Given the description of an element on the screen output the (x, y) to click on. 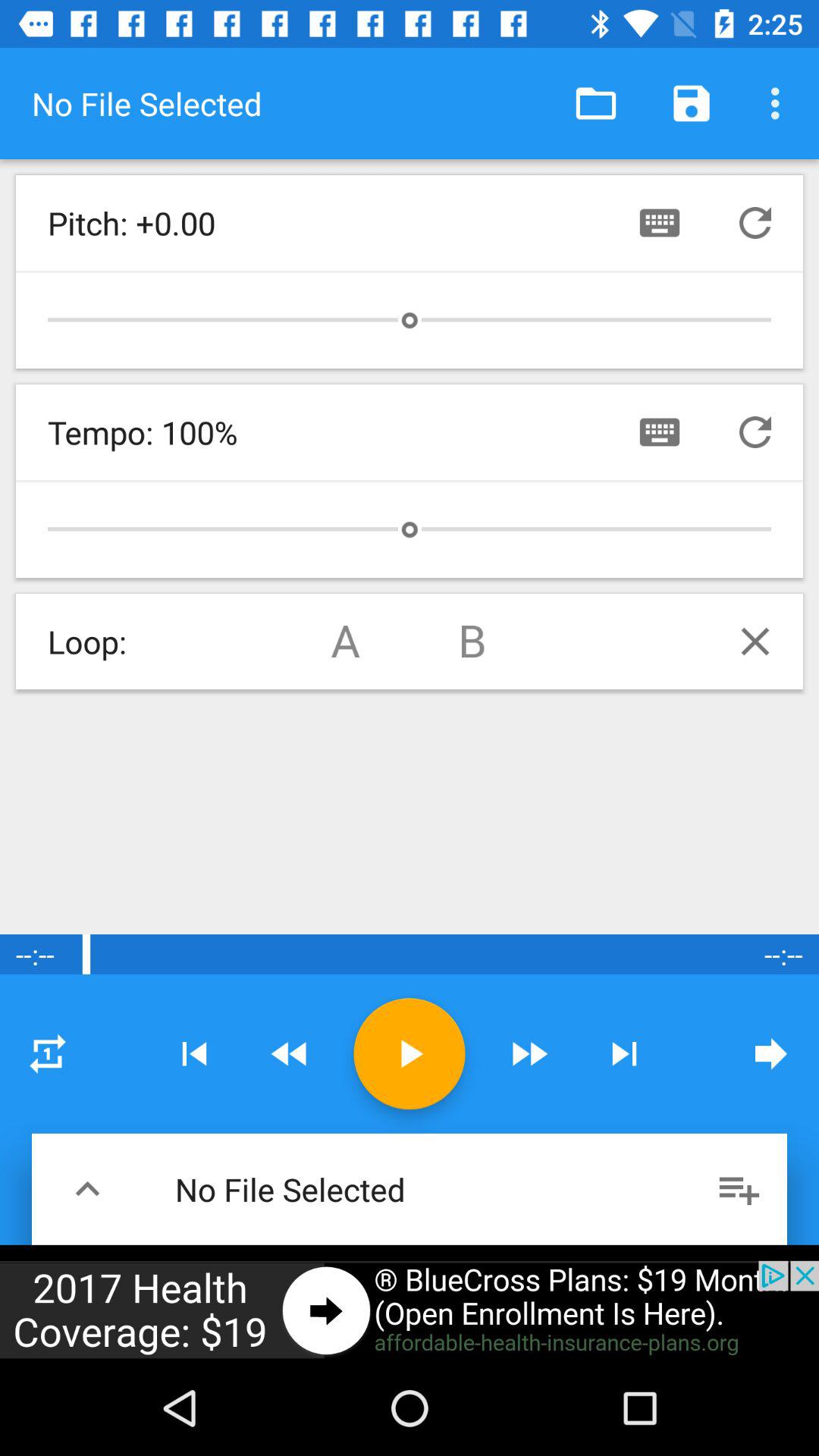
plays the first track (345, 641)
